Given the description of an element on the screen output the (x, y) to click on. 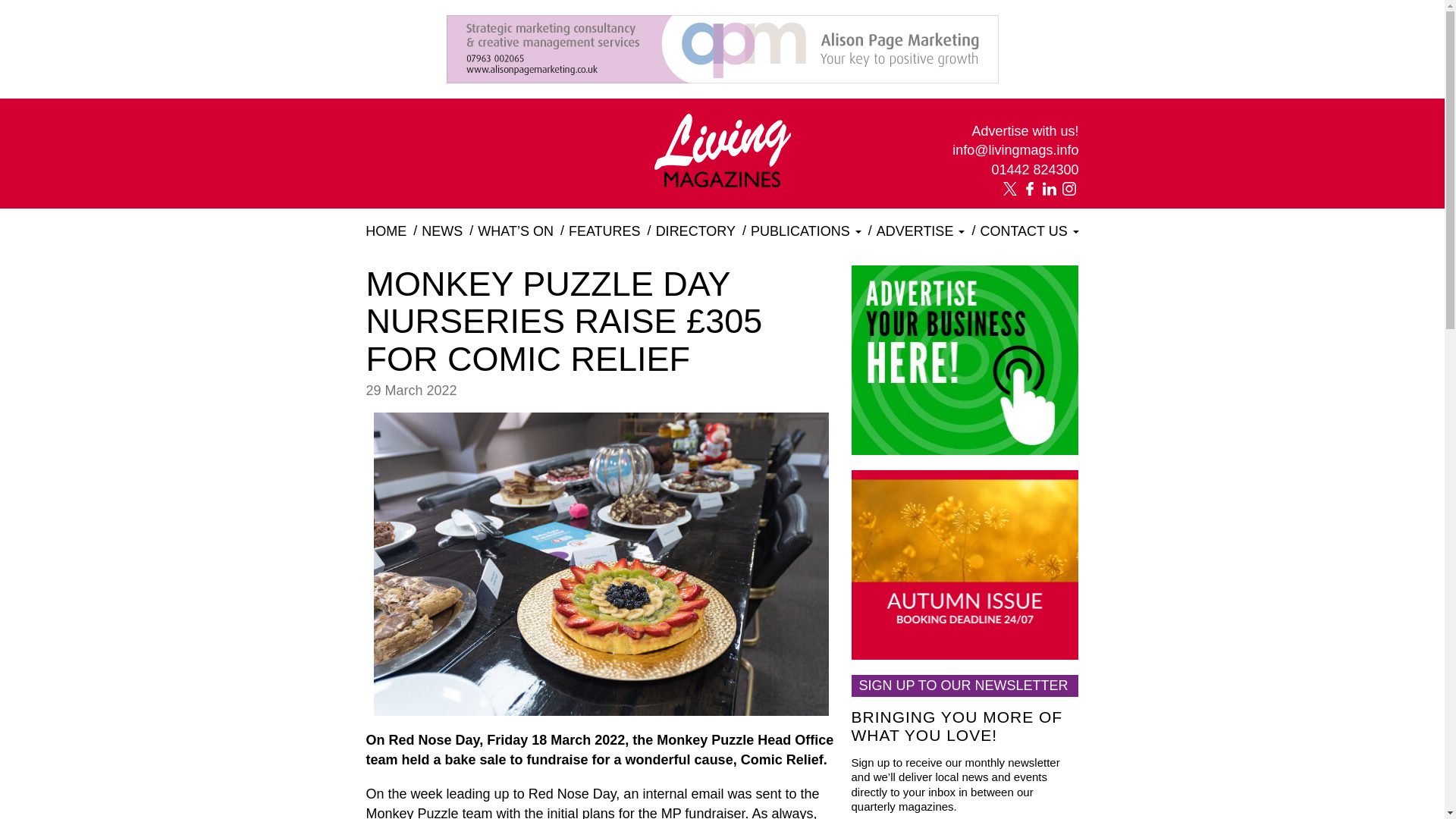
Living Magazines (721, 182)
Facebook (1029, 188)
X (1008, 188)
X (1008, 188)
Linkedin (1048, 188)
01442 824300 (1015, 170)
PUBLICATIONS (805, 231)
FEATURES (603, 231)
Facebook (1029, 188)
CONTACT US (1029, 231)
Advertise with us! (1015, 131)
Linkedin (1048, 188)
HOME (385, 231)
Instagram (1068, 188)
NEWS (441, 231)
